Given the description of an element on the screen output the (x, y) to click on. 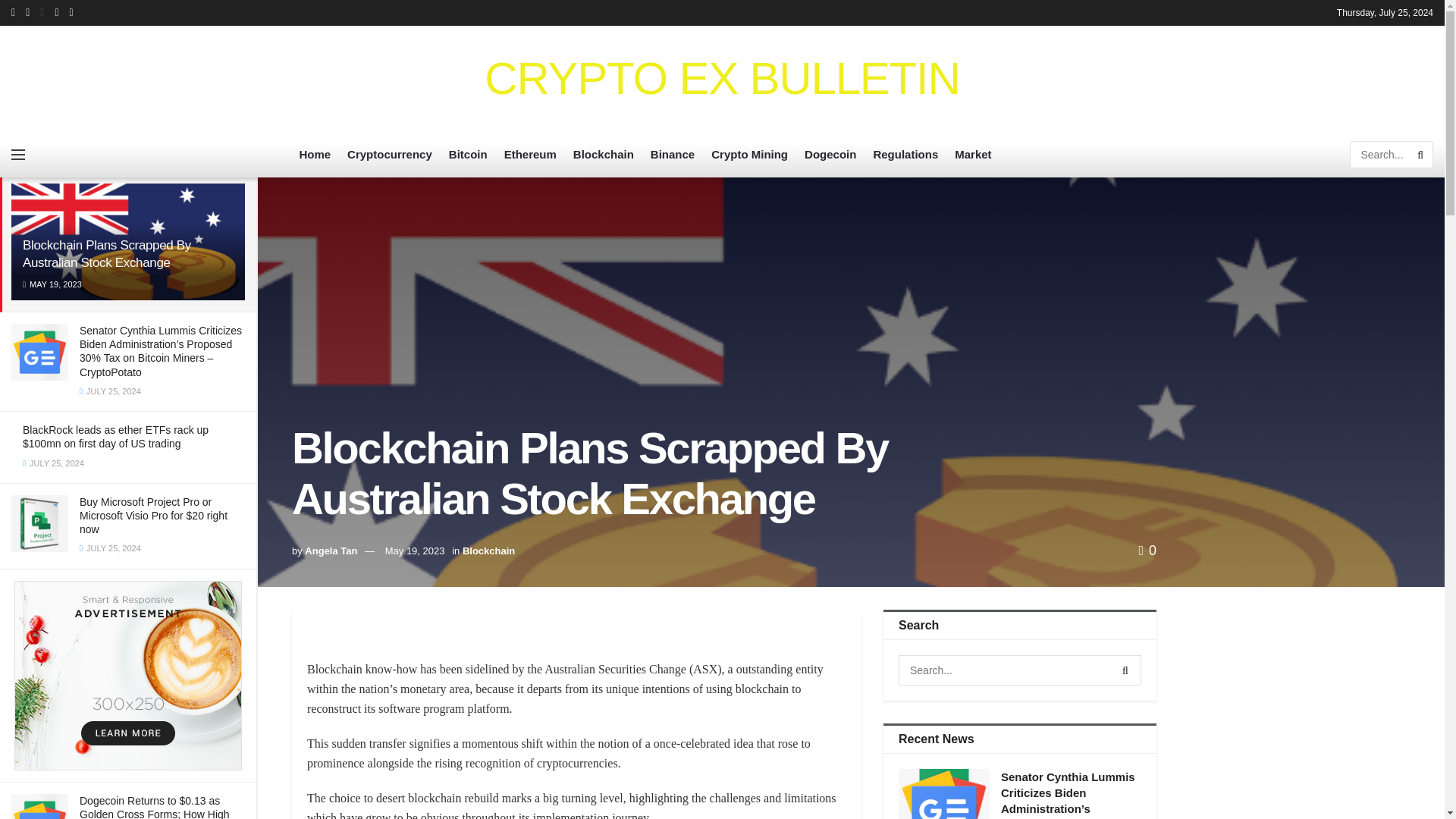
CRYPTO EX BULLETIN (721, 78)
Ethereum (529, 154)
Blockchain (603, 154)
Cryptocurrency (389, 154)
Blockchain Plans Scrapped By Australian Stock Exchange (106, 254)
